Given the description of an element on the screen output the (x, y) to click on. 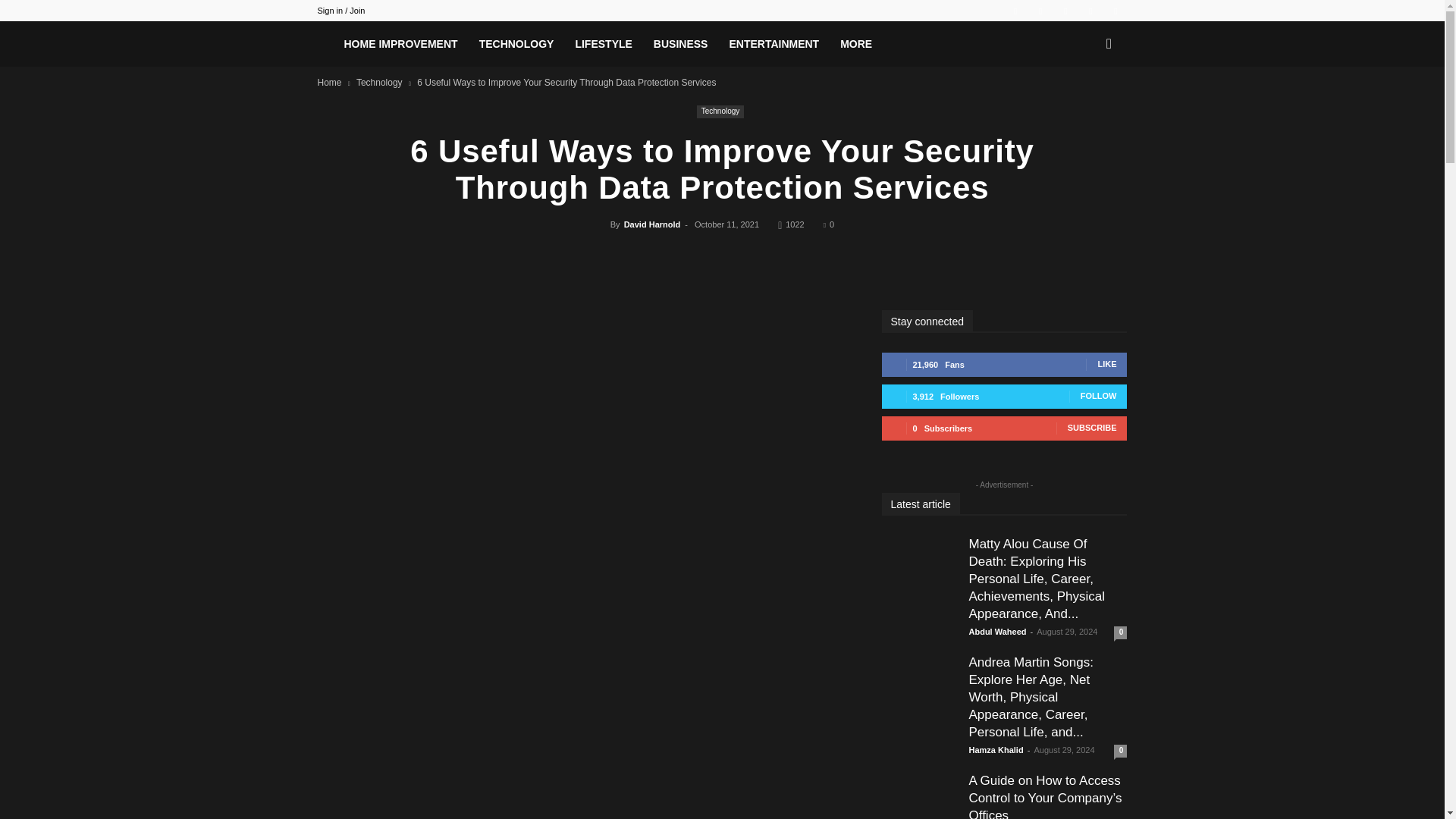
Facebook (1040, 10)
View all posts in Technology (379, 81)
VKontakte (1114, 10)
Vimeo (1090, 10)
Twitter (1065, 10)
HOME IMPROVEMENT (400, 43)
TECHNOLOGY (516, 43)
Digestley (325, 47)
Behance (1015, 10)
